Given the description of an element on the screen output the (x, y) to click on. 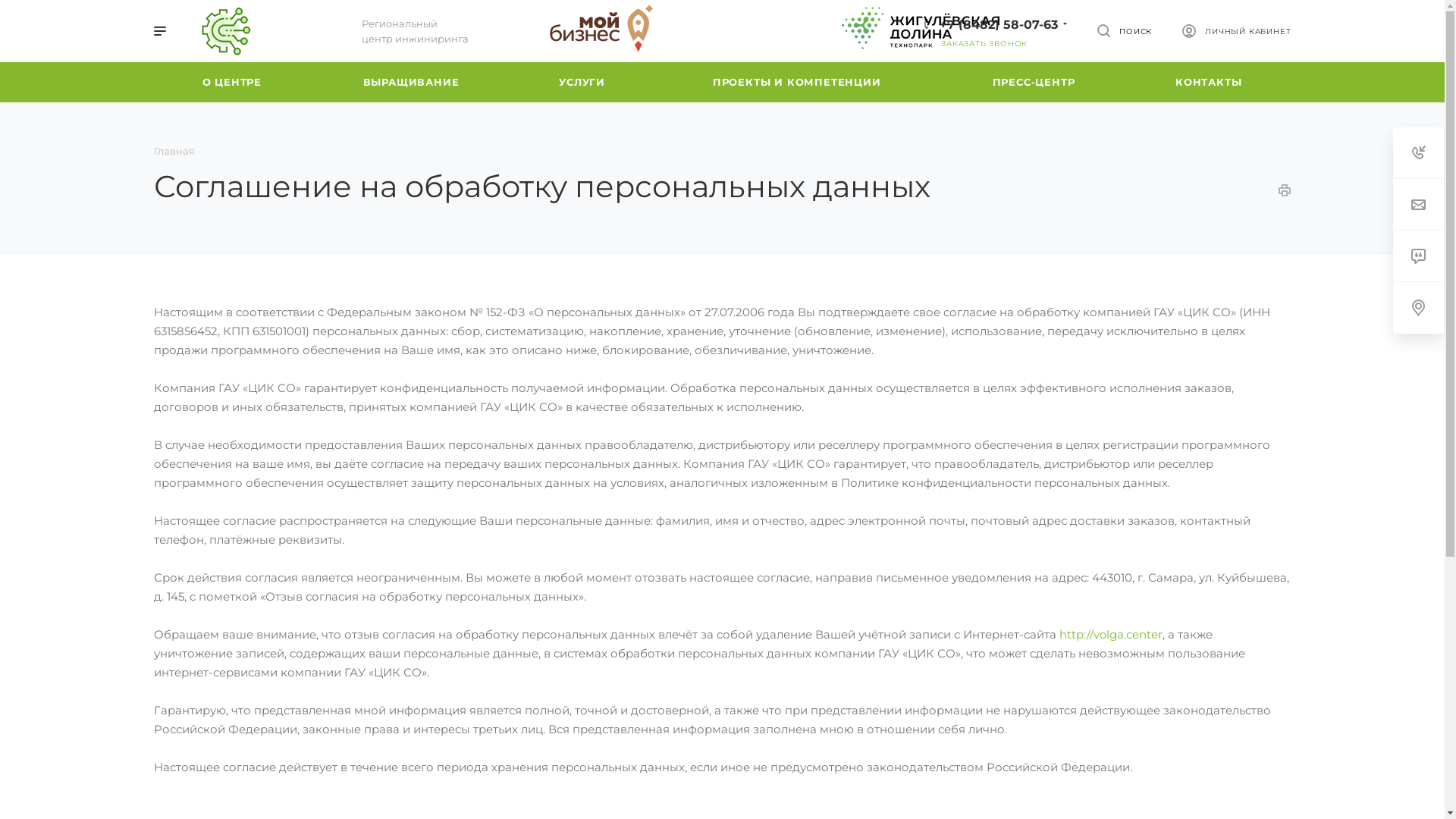
+7 (8482) 58-07-63 Element type: text (998, 24)
http://volga.center Element type: text (1109, 634)
